Given the description of an element on the screen output the (x, y) to click on. 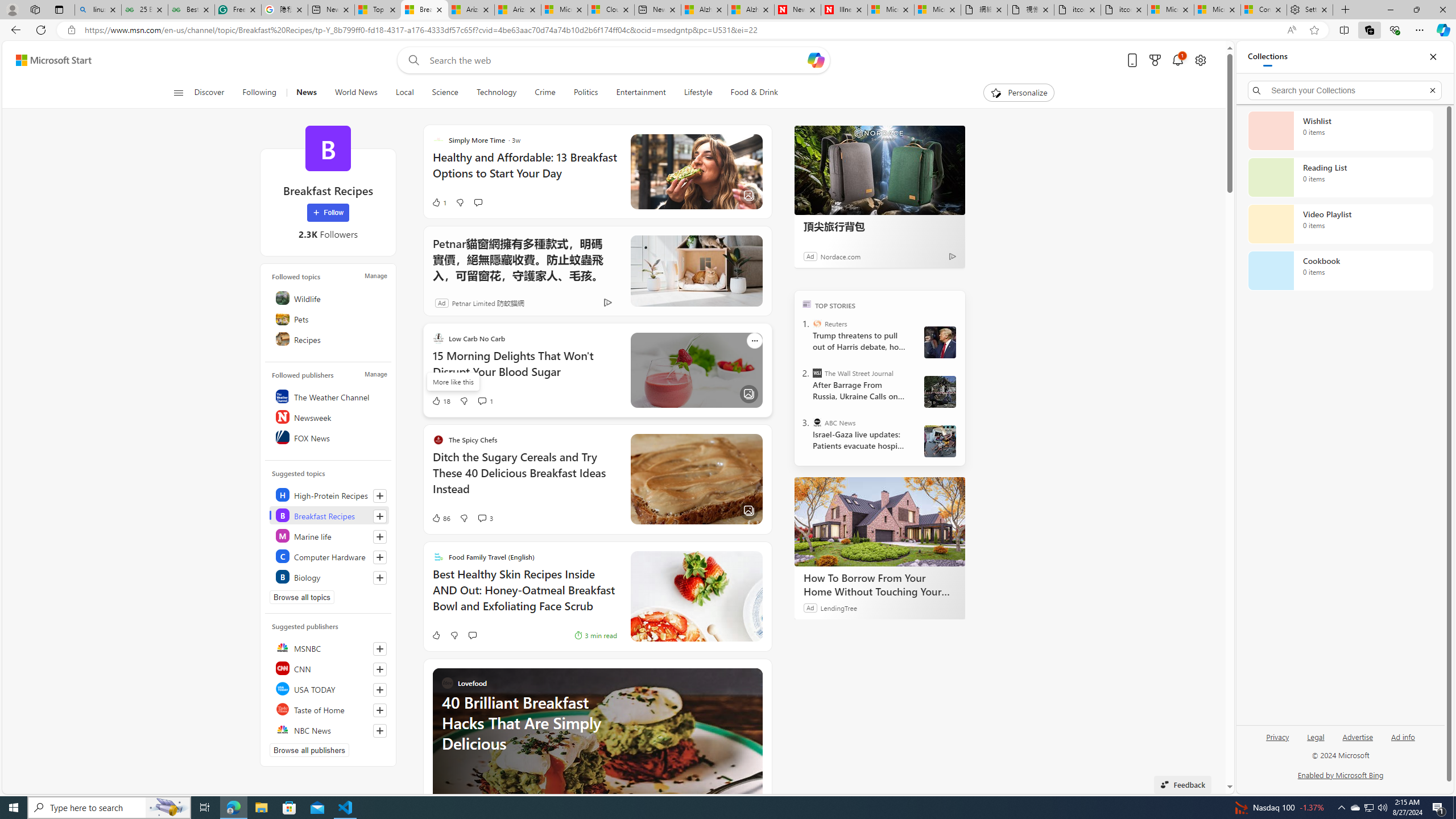
Privacy (1277, 741)
Browse all publishers (309, 749)
World News (355, 92)
Discover (208, 92)
Dislike (453, 635)
Exit search (1432, 90)
linux basic - Search (97, 9)
Lifestyle (698, 92)
Follow (328, 212)
Crime (544, 92)
Following (258, 92)
NBC News (328, 729)
Newsweek - News, Analysis, Politics, Business, Technology (797, 9)
Advertise (1358, 741)
